Given the description of an element on the screen output the (x, y) to click on. 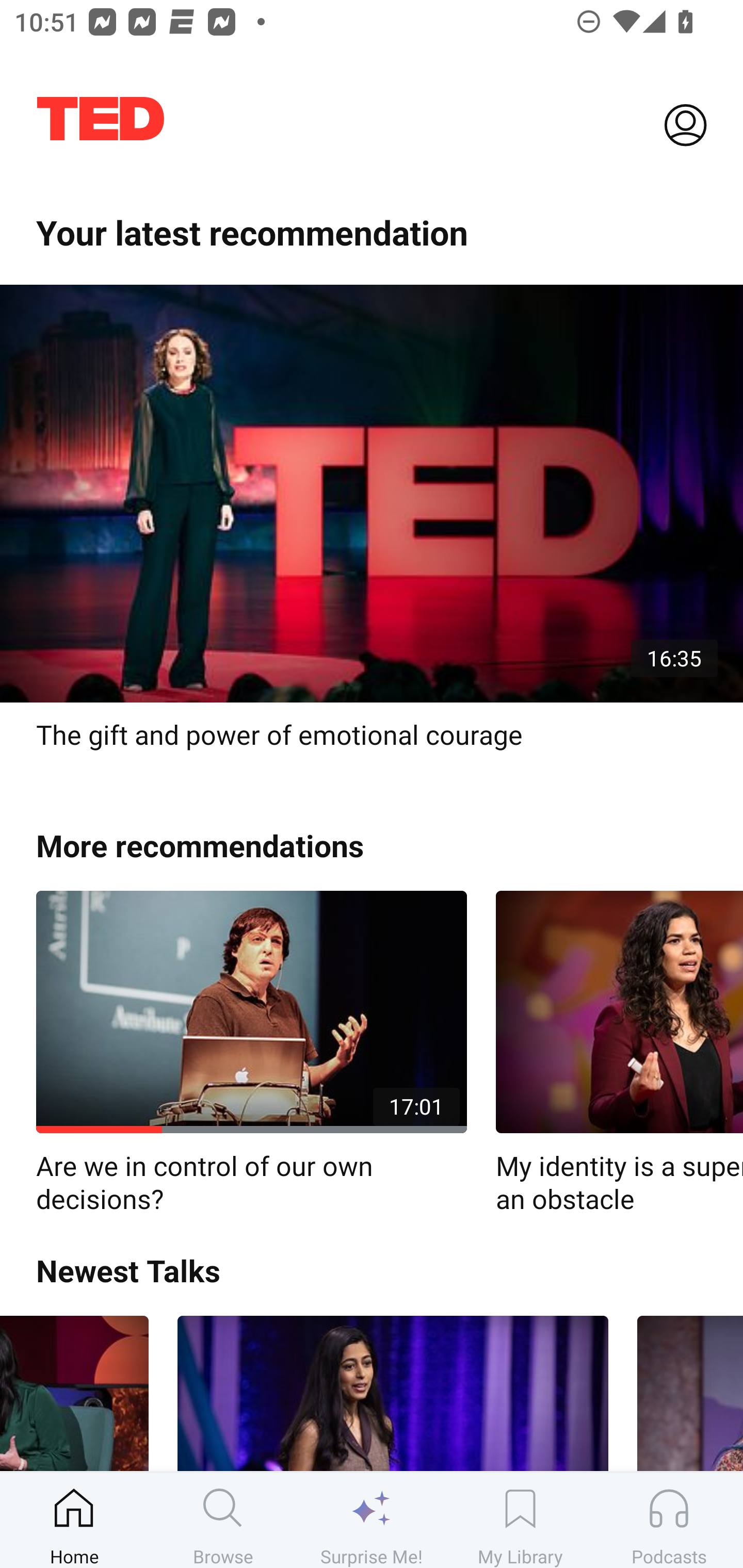
17:01 Are we in control of our own decisions? (251, 1053)
My identity is a superpower -- not an obstacle (619, 1053)
Home (74, 1520)
Browse (222, 1520)
Surprise Me! (371, 1520)
My Library (519, 1520)
Podcasts (668, 1520)
